Given the description of an element on the screen output the (x, y) to click on. 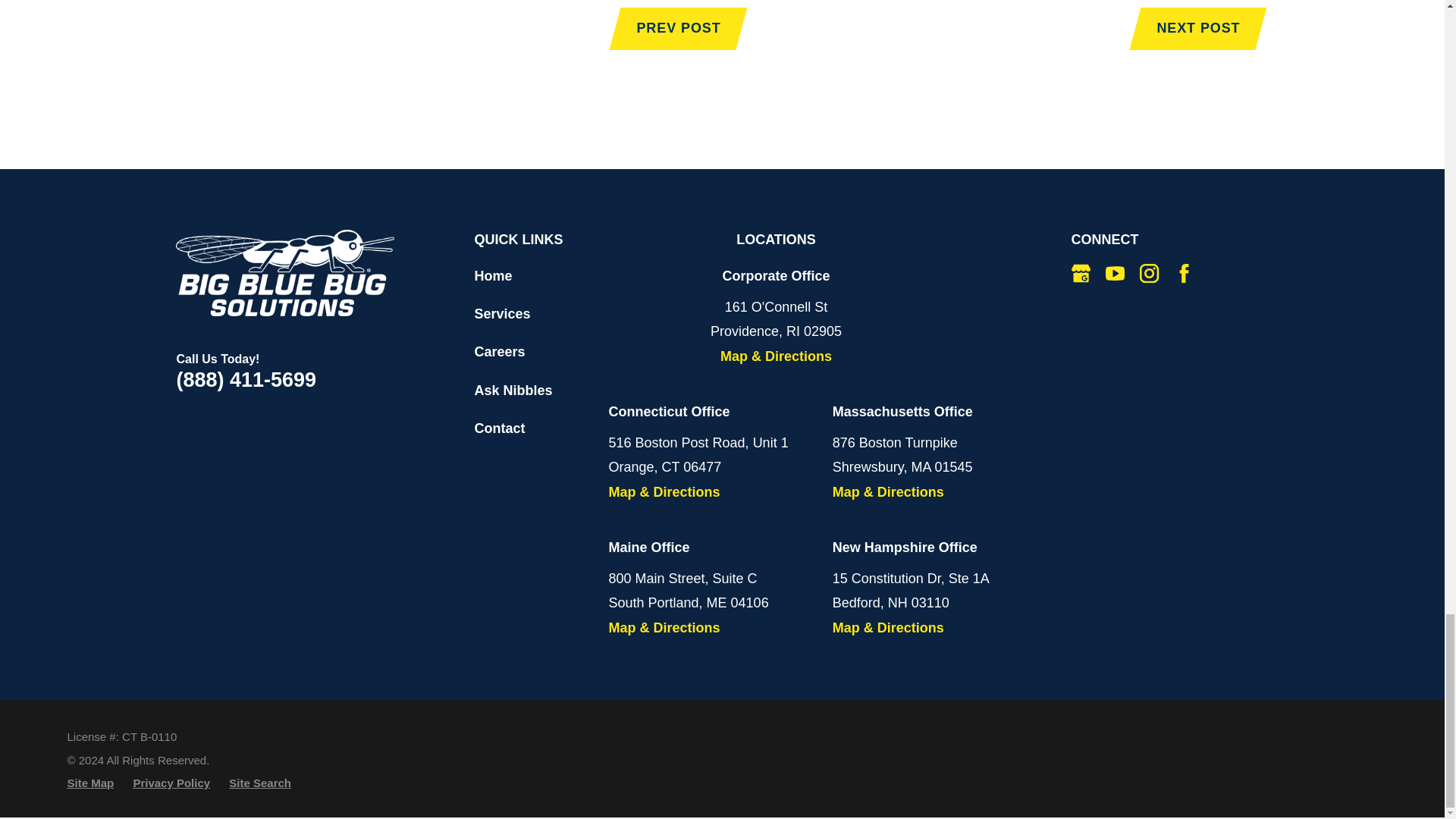
YouTube (1114, 272)
Home (285, 273)
Instagram (1149, 272)
Google Business Profile (1080, 272)
